Given the description of an element on the screen output the (x, y) to click on. 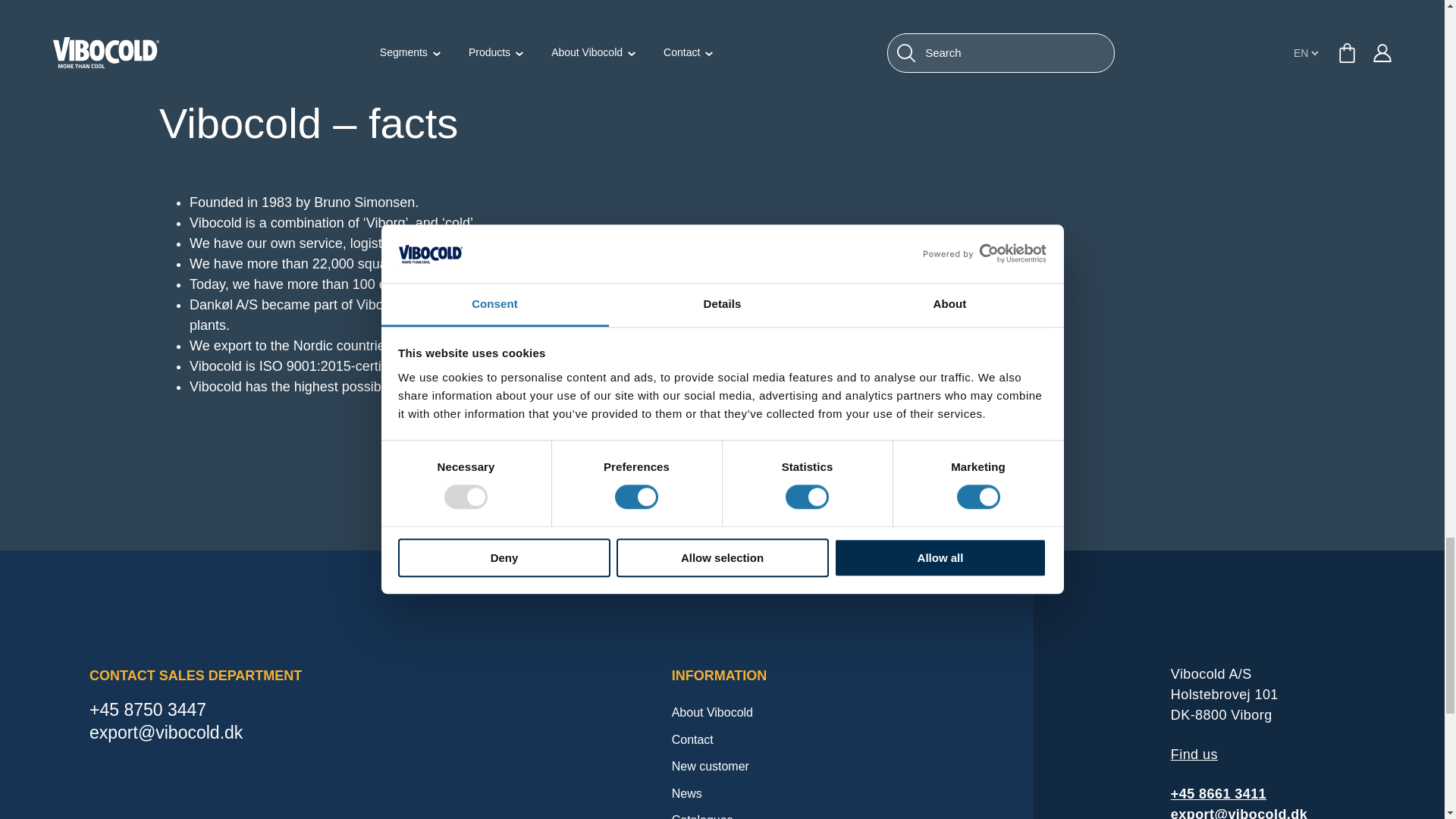
Find your way to Vibocold (1193, 754)
